Given the description of an element on the screen output the (x, y) to click on. 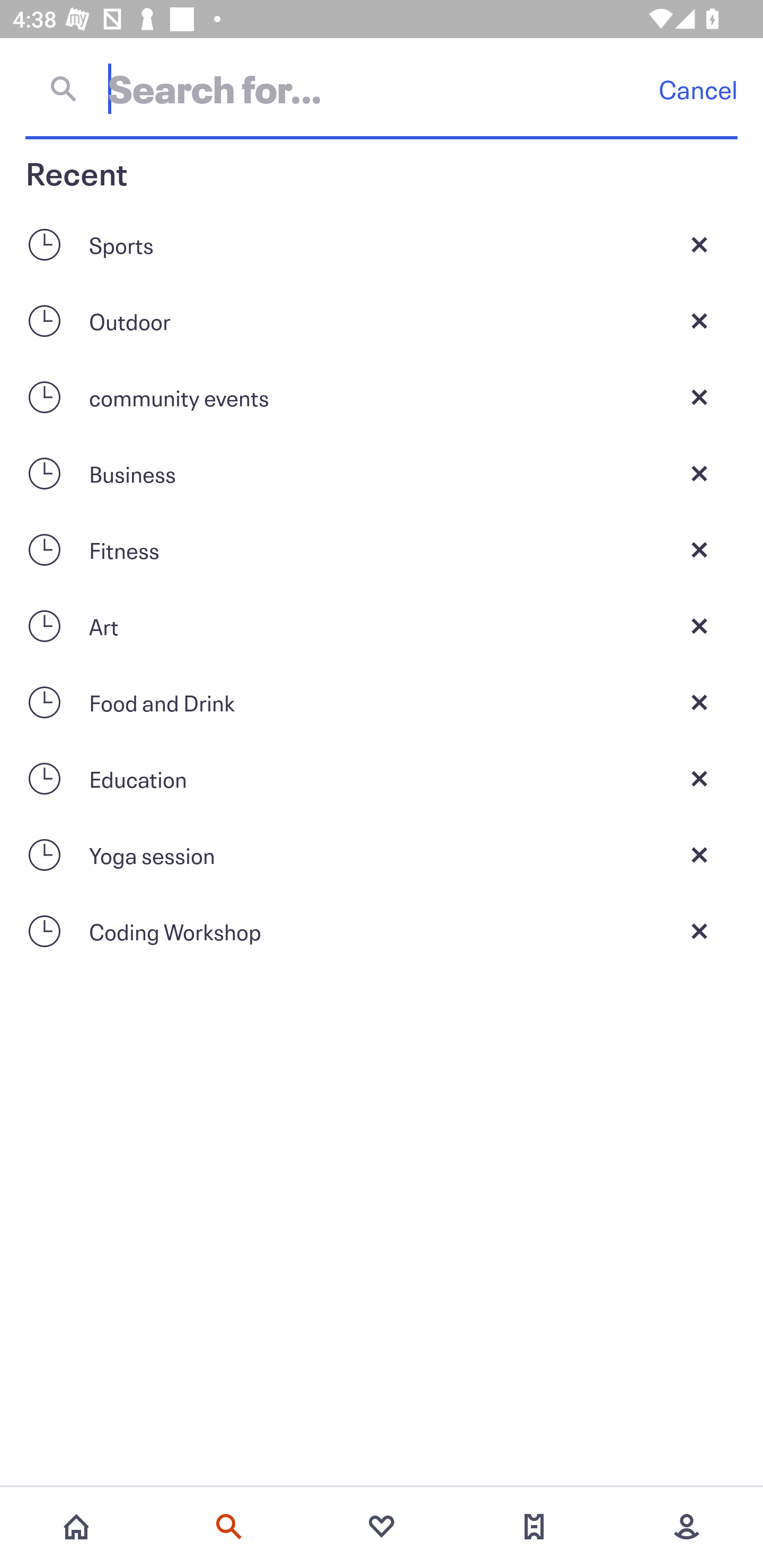
Cancel Search for… (381, 88)
Cancel (697, 89)
Sports Close current screen (381, 244)
Close current screen (699, 244)
Outdoor Close current screen (381, 320)
Close current screen (699, 320)
community events Close current screen (381, 397)
Close current screen (699, 397)
Business Close current screen (381, 473)
Close current screen (699, 473)
Fitness Close current screen (381, 549)
Close current screen (699, 549)
Art Close current screen (381, 626)
Close current screen (699, 626)
Food and Drink Close current screen (381, 702)
Close current screen (699, 702)
Education Close current screen (381, 778)
Close current screen (699, 778)
Yoga session Close current screen (381, 854)
Close current screen (699, 854)
Coding Workshop Close current screen (381, 931)
Close current screen (699, 931)
Home (76, 1526)
Search events (228, 1526)
Favorites (381, 1526)
Tickets (533, 1526)
More (686, 1526)
